Given the description of an element on the screen output the (x, y) to click on. 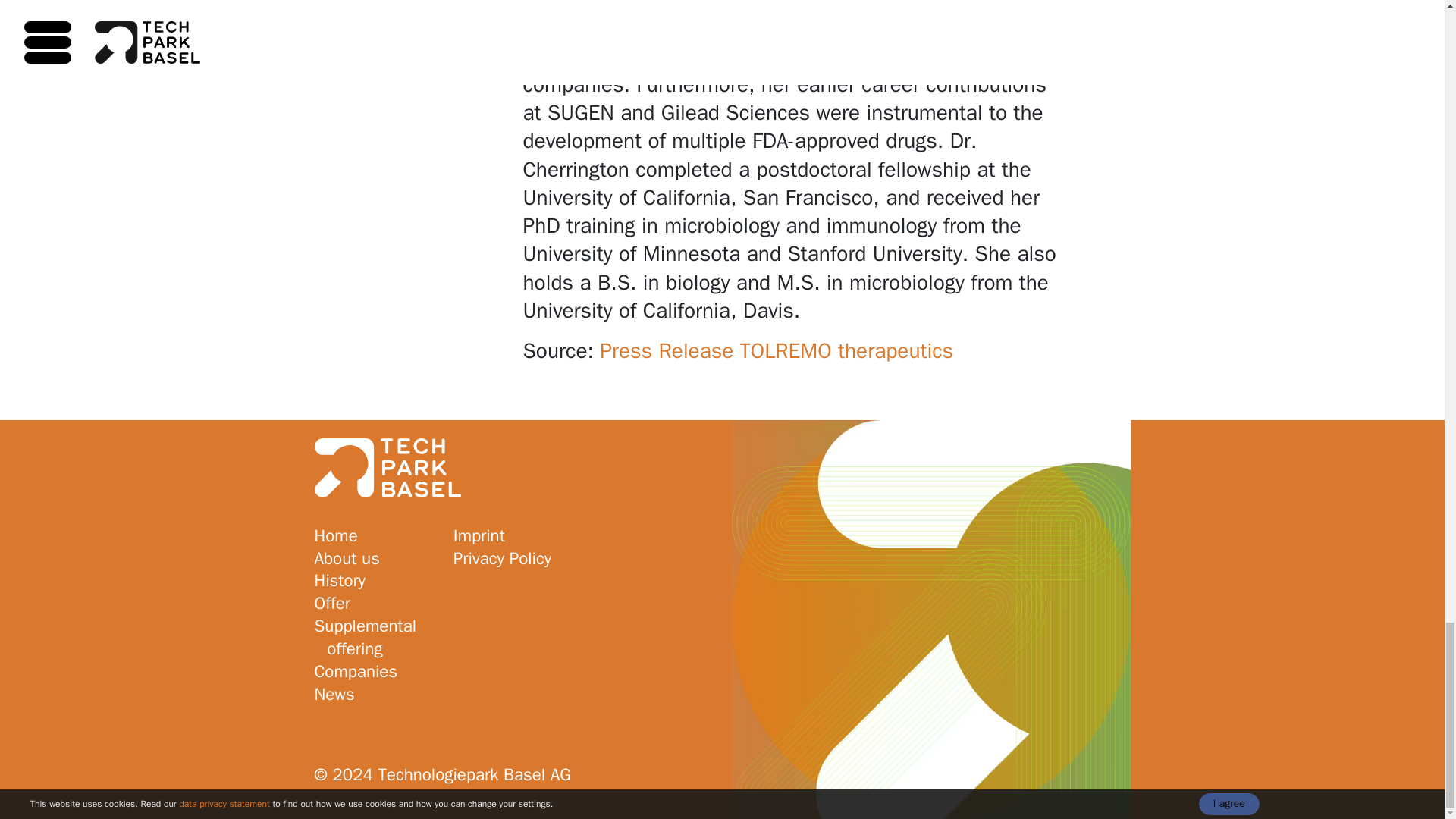
Press Release TOLREMO therapeutics (776, 350)
Privacy Policy (512, 558)
Offer (373, 603)
About us (373, 558)
History (373, 580)
Supplemental offering (373, 637)
Home (373, 535)
Companies (373, 671)
News (373, 694)
Imprint (512, 535)
